Given the description of an element on the screen output the (x, y) to click on. 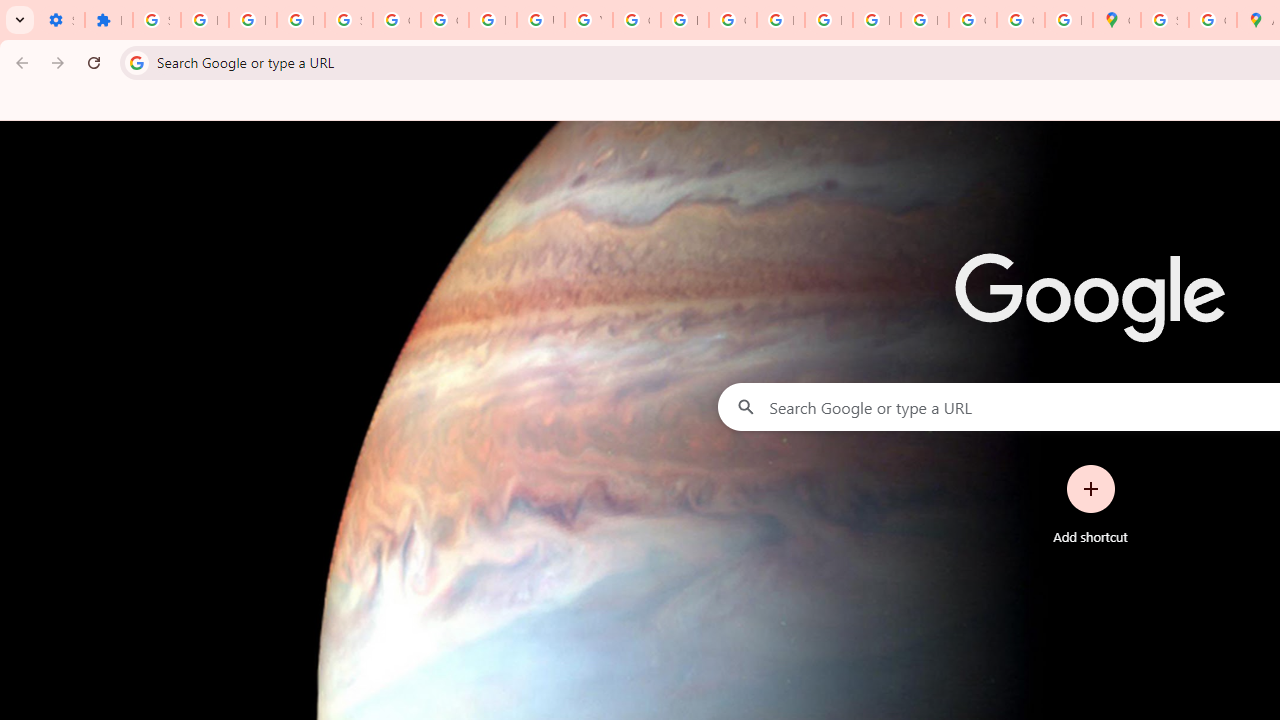
Google Maps (1116, 20)
Sign in - Google Accounts (348, 20)
Privacy Help Center - Policies Help (780, 20)
https://scholar.google.com/ (684, 20)
